Given the description of an element on the screen output the (x, y) to click on. 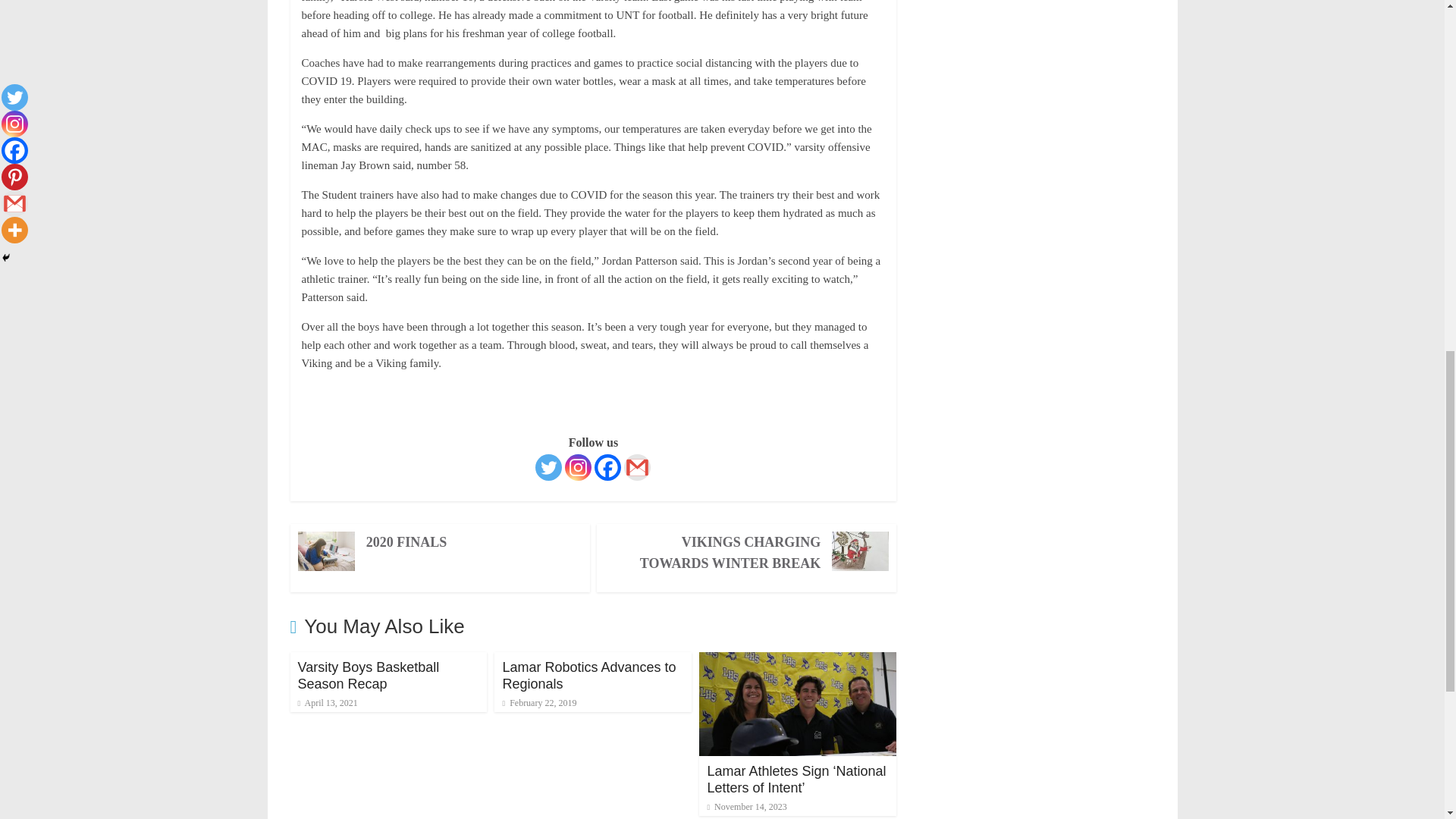
Twitter (548, 467)
Instagram (577, 467)
